Given the description of an element on the screen output the (x, y) to click on. 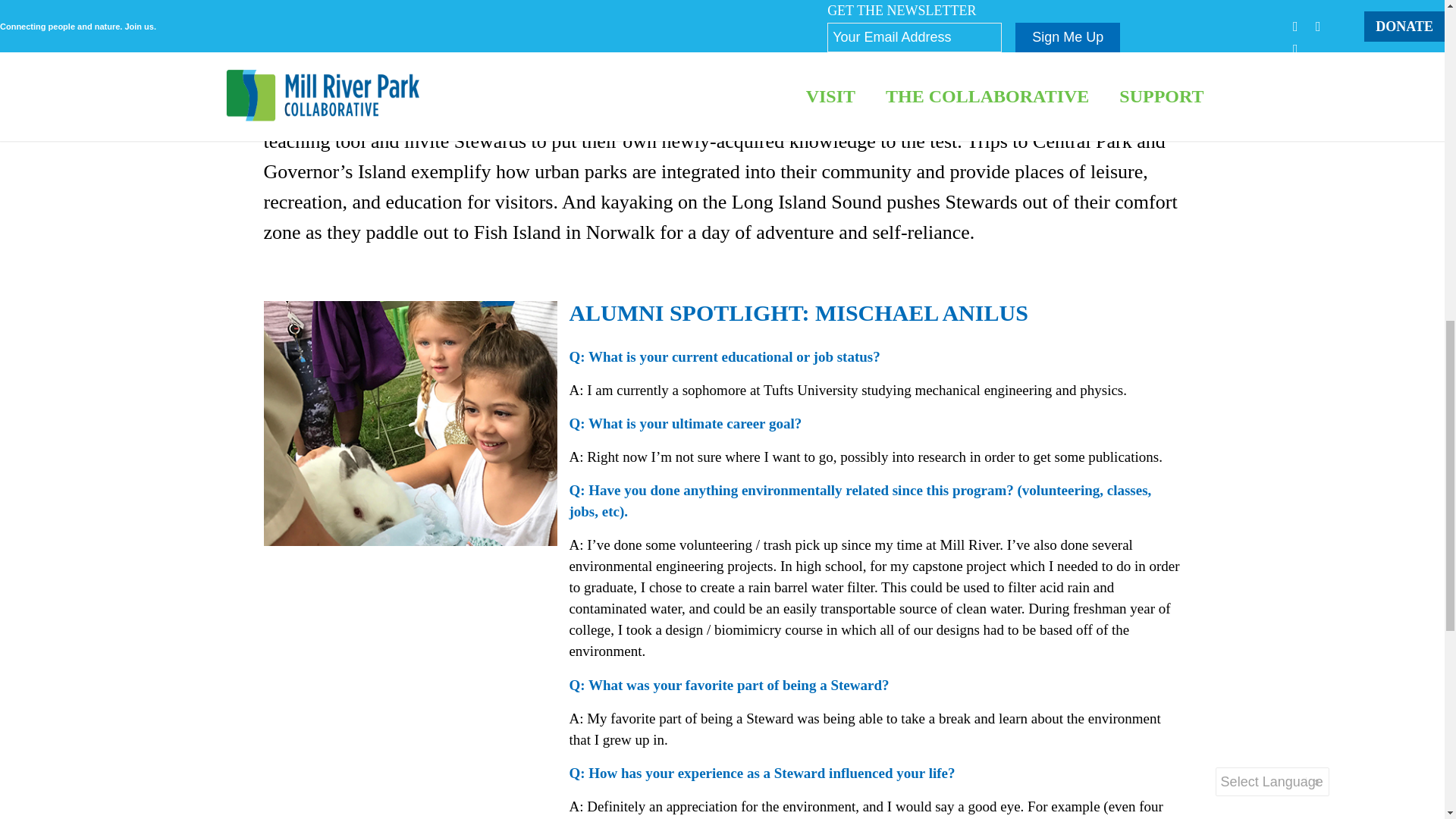
onethird (410, 424)
